Given the description of an element on the screen output the (x, y) to click on. 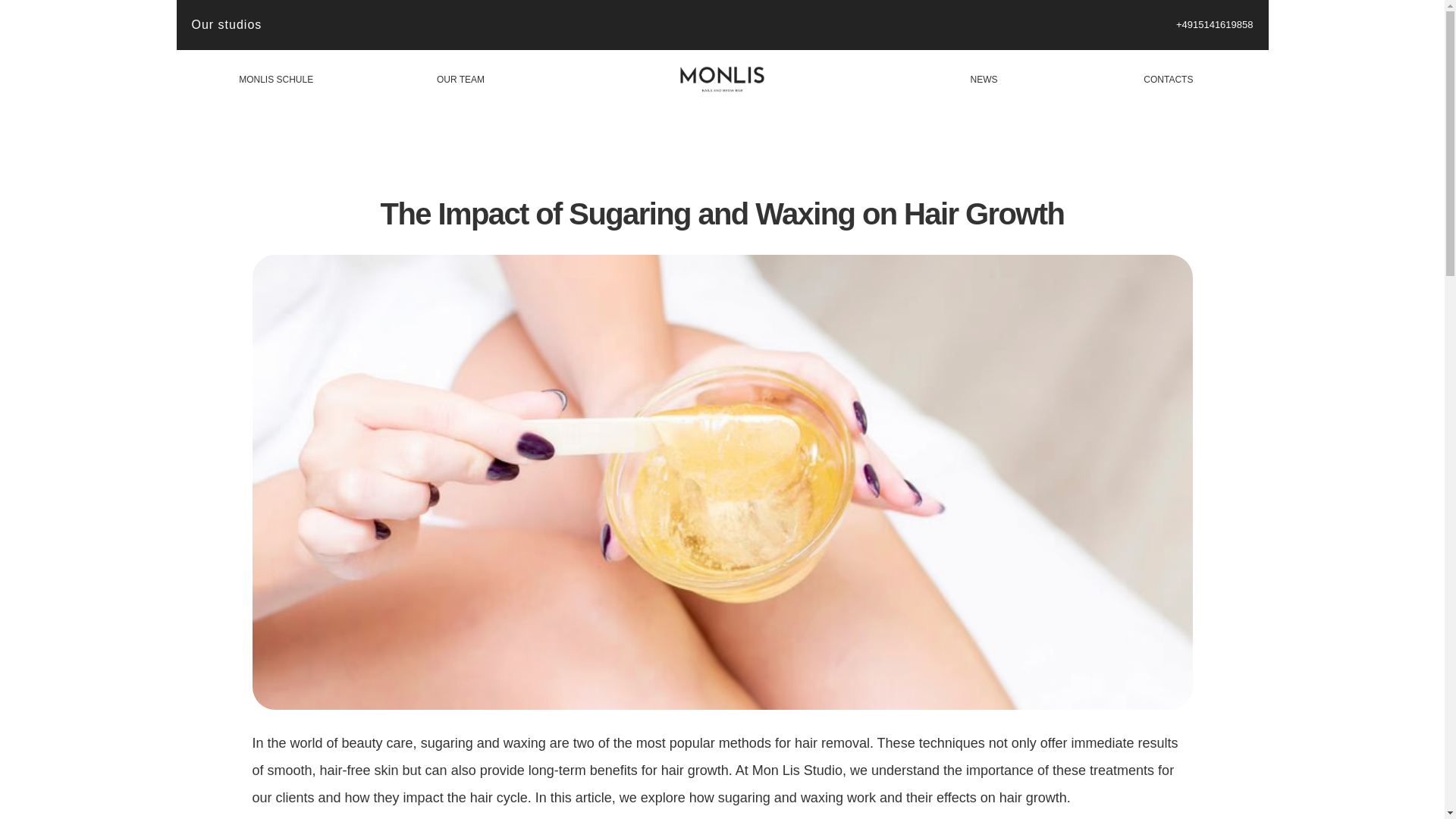
NEWS (984, 79)
OUR TEAM (460, 79)
MONLIS SCHULE (275, 80)
CONTACTS (1167, 79)
